Given the description of an element on the screen output the (x, y) to click on. 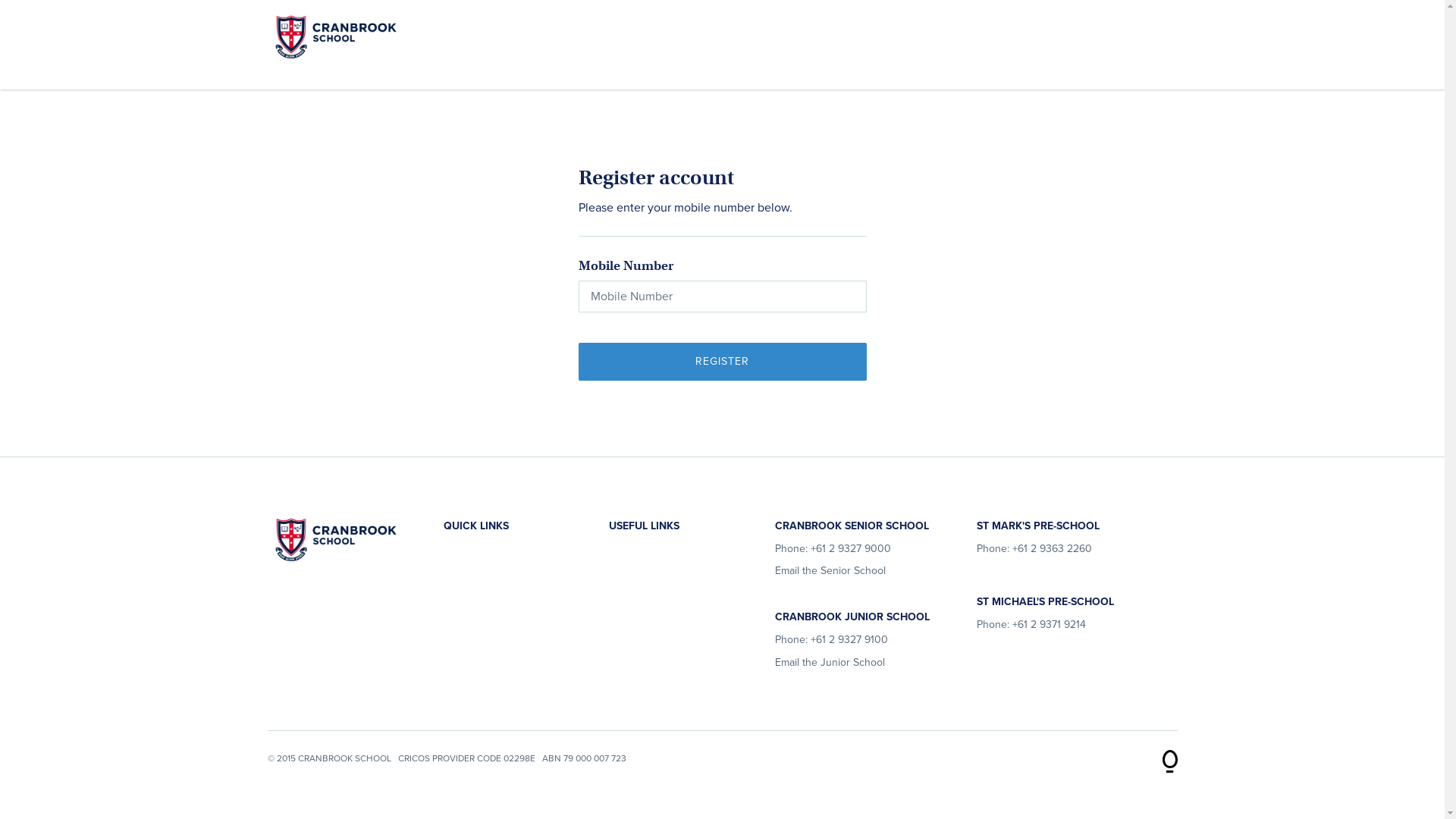
Chook Element type: text (1168, 754)
Register Element type: text (721, 361)
Email the Senior School Element type: text (830, 570)
Email the Junior School Element type: text (829, 661)
